Given the description of an element on the screen output the (x, y) to click on. 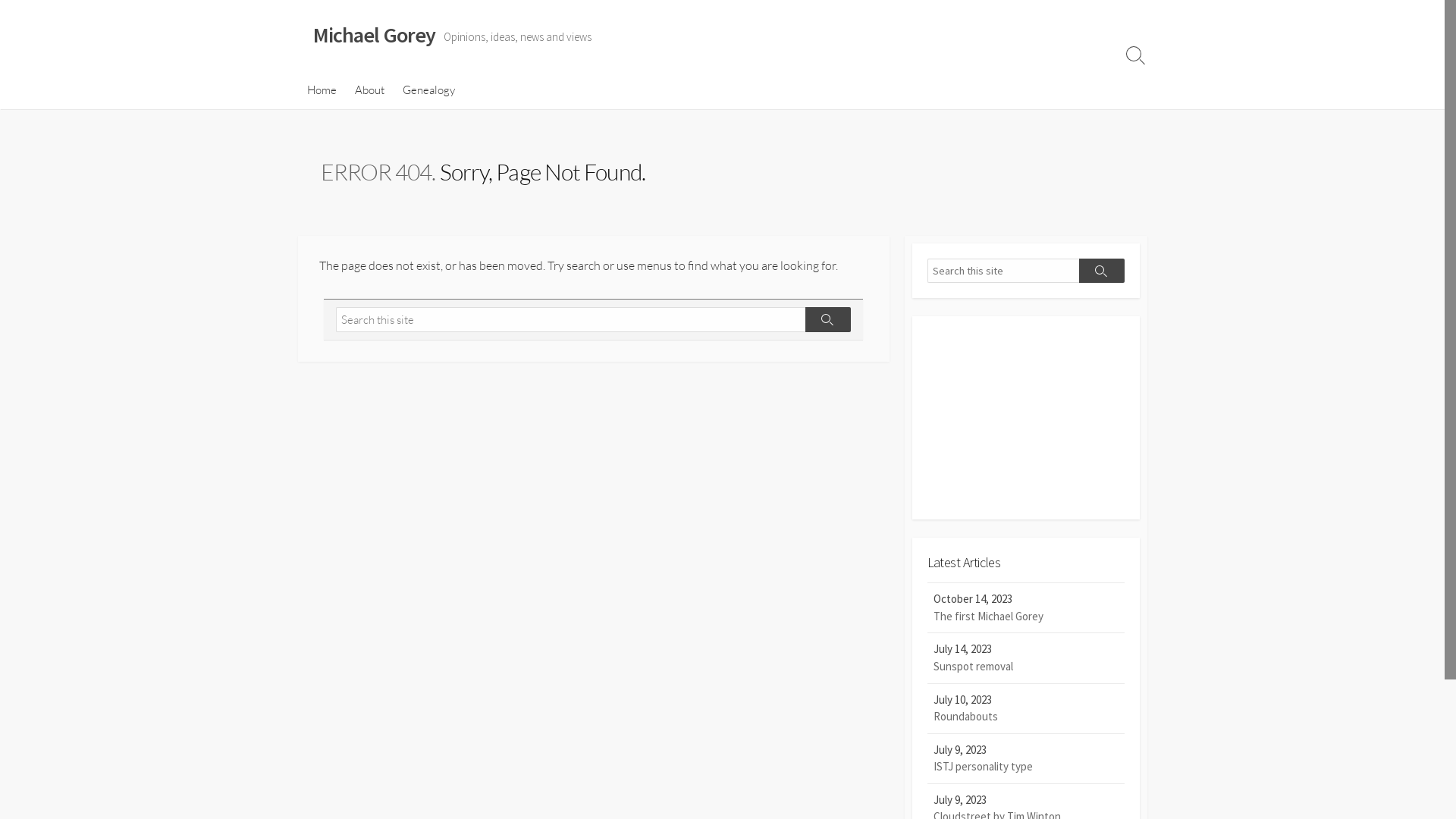
July 10, 2023
Roundabouts Element type: text (1024, 709)
July 9, 2023
ISTJ personality type Element type: text (1024, 759)
Search Element type: text (827, 319)
Search Element type: text (1100, 270)
October 14, 2023
The first Michael Gorey Element type: text (1024, 607)
Genealogy Element type: text (427, 90)
Search Toggle Element type: text (1135, 54)
July 14, 2023
Sunspot removal Element type: text (1024, 658)
Home Element type: text (321, 90)
Bendigo weather Element type: text (1024, 496)
About Element type: text (369, 90)
Michael Gorey Element type: text (373, 35)
